Given the description of an element on the screen output the (x, y) to click on. 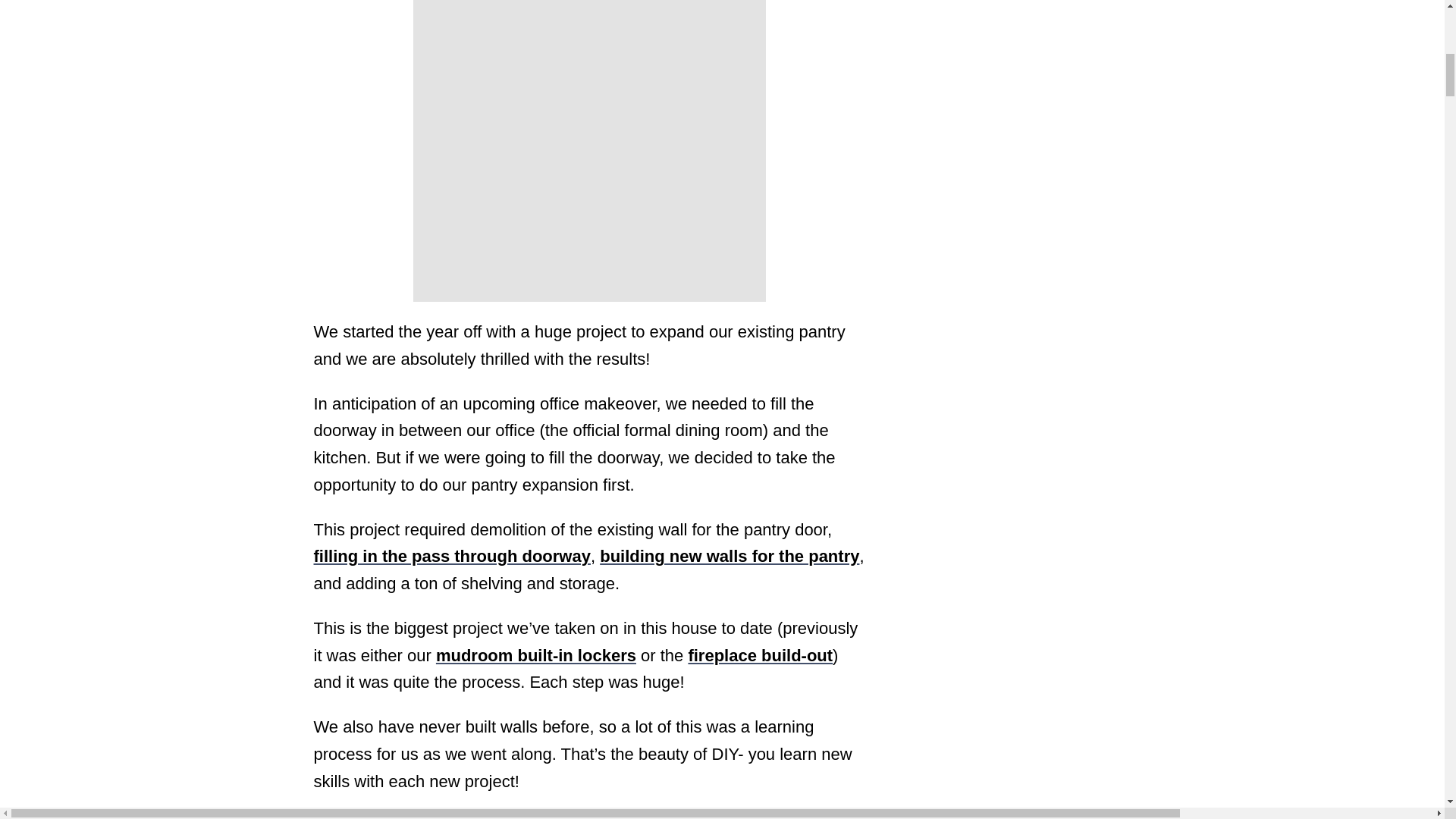
building new walls for the pantry (729, 556)
fireplace build-out (759, 655)
filling in the pass through doorway (452, 556)
mudroom built-in lockers (535, 655)
